Given the description of an element on the screen output the (x, y) to click on. 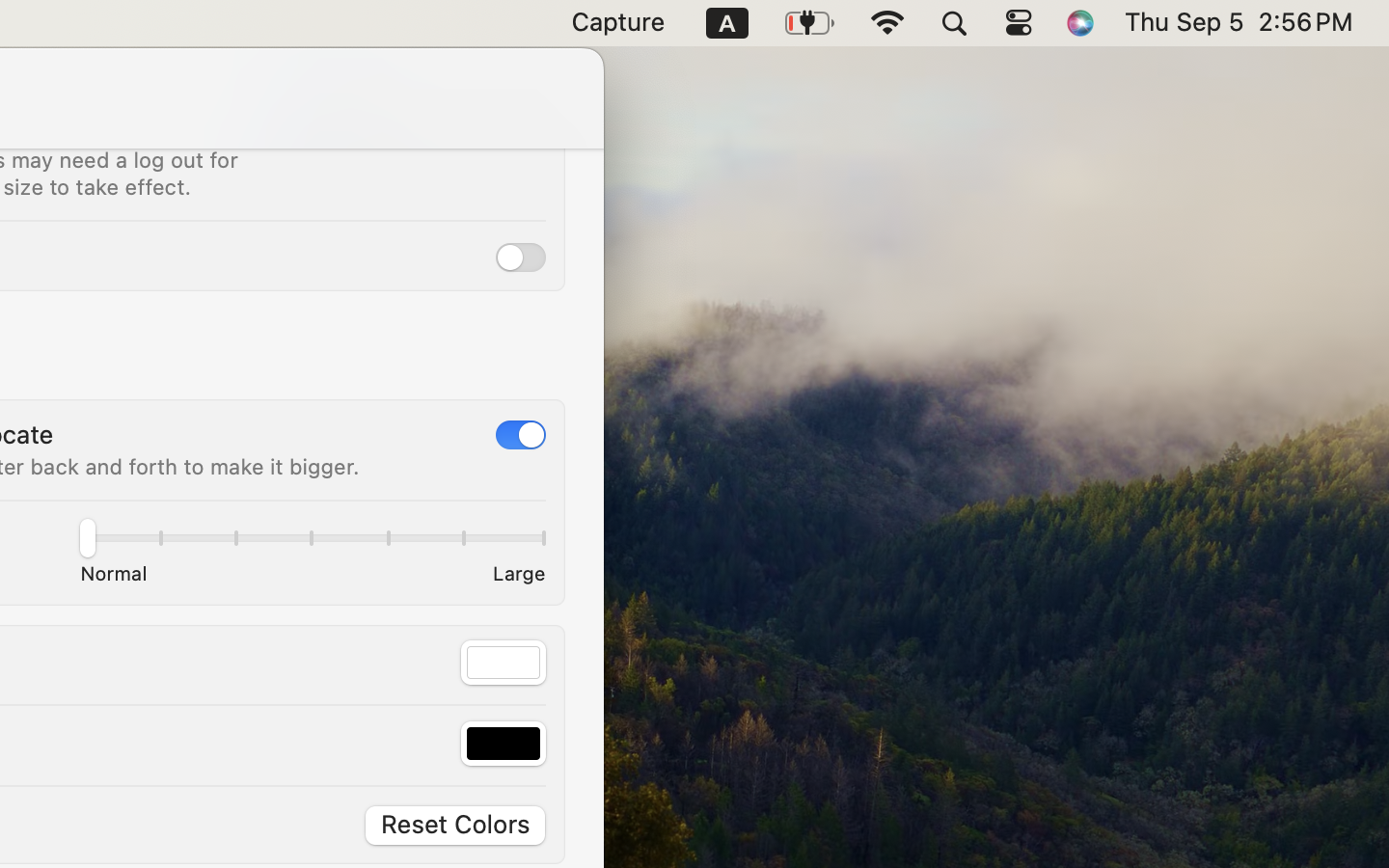
1 Element type: AXRadioButton (349, 126)
rgb 0 0 0 1 Element type: AXColorWell (503, 743)
rgb 1 1 1 1 Element type: AXColorWell (503, 662)
